Given the description of an element on the screen output the (x, y) to click on. 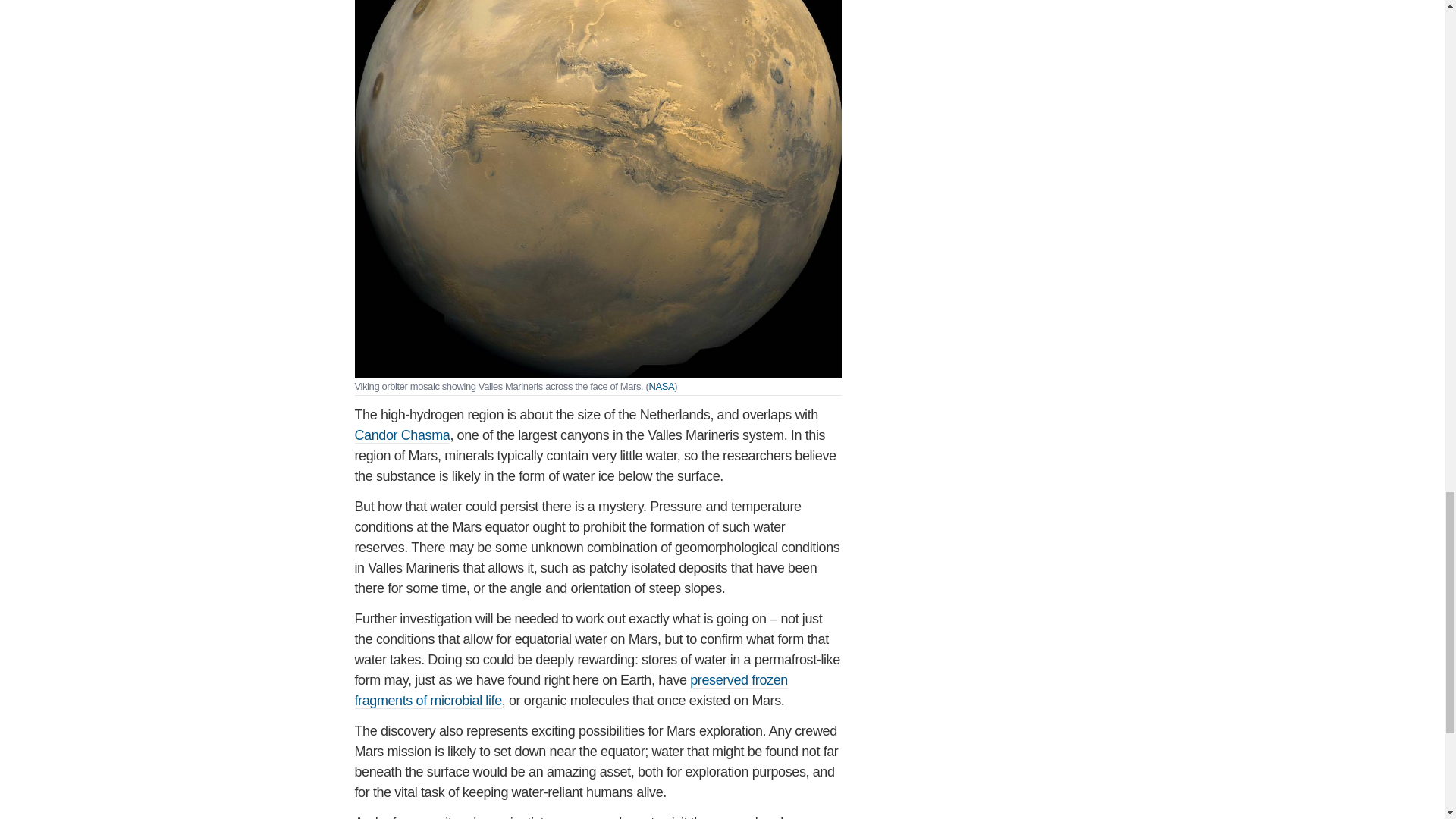
preserved frozen fragments of microbial life (571, 690)
Candor Chasma (402, 435)
NASA (660, 386)
